Given the description of an element on the screen output the (x, y) to click on. 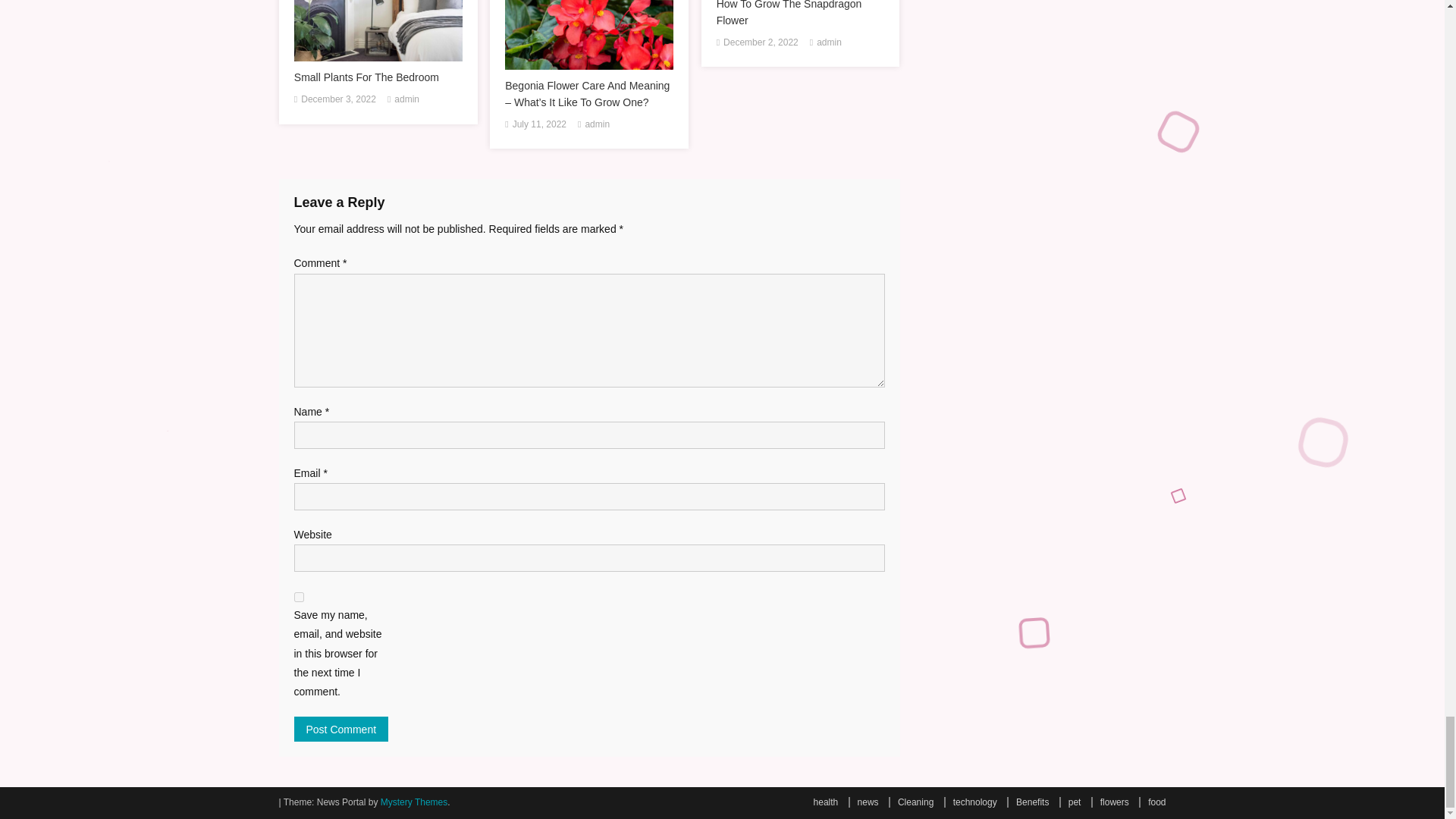
July 11, 2022 (539, 125)
December 3, 2022 (338, 99)
Small Plants For The Bedroom (378, 76)
admin (597, 125)
admin (828, 43)
Post Comment (341, 729)
December 2, 2022 (760, 43)
Post Comment (341, 729)
yes (299, 596)
admin (406, 99)
How To Grow The Snapdragon Flower (800, 14)
